Given the description of an element on the screen output the (x, y) to click on. 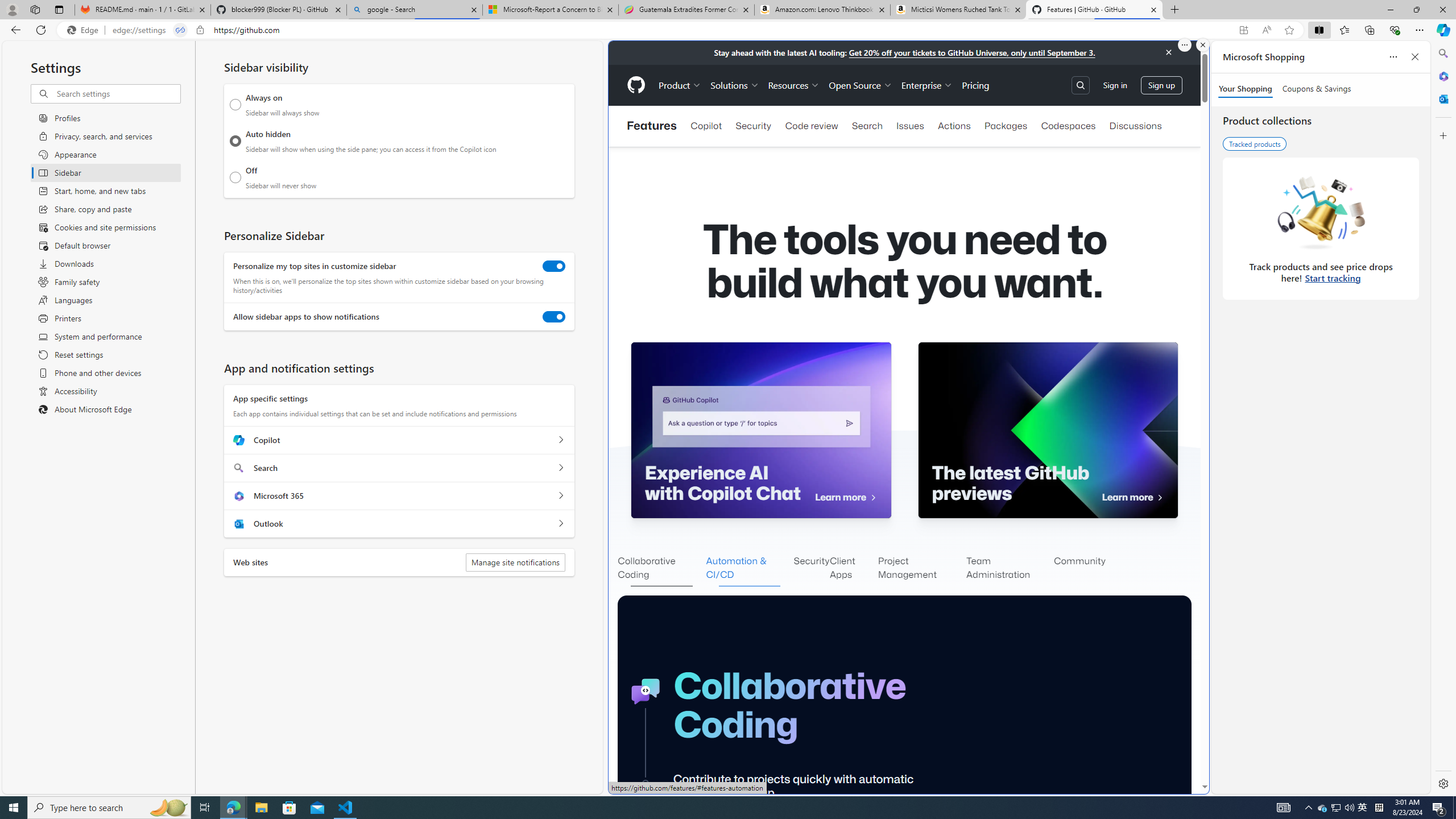
Copilot (706, 125)
Sign up (1161, 84)
Sign in (1115, 84)
Solutions (735, 84)
Collaborative Coding (661, 568)
Solutions (735, 84)
